Given the description of an element on the screen output the (x, y) to click on. 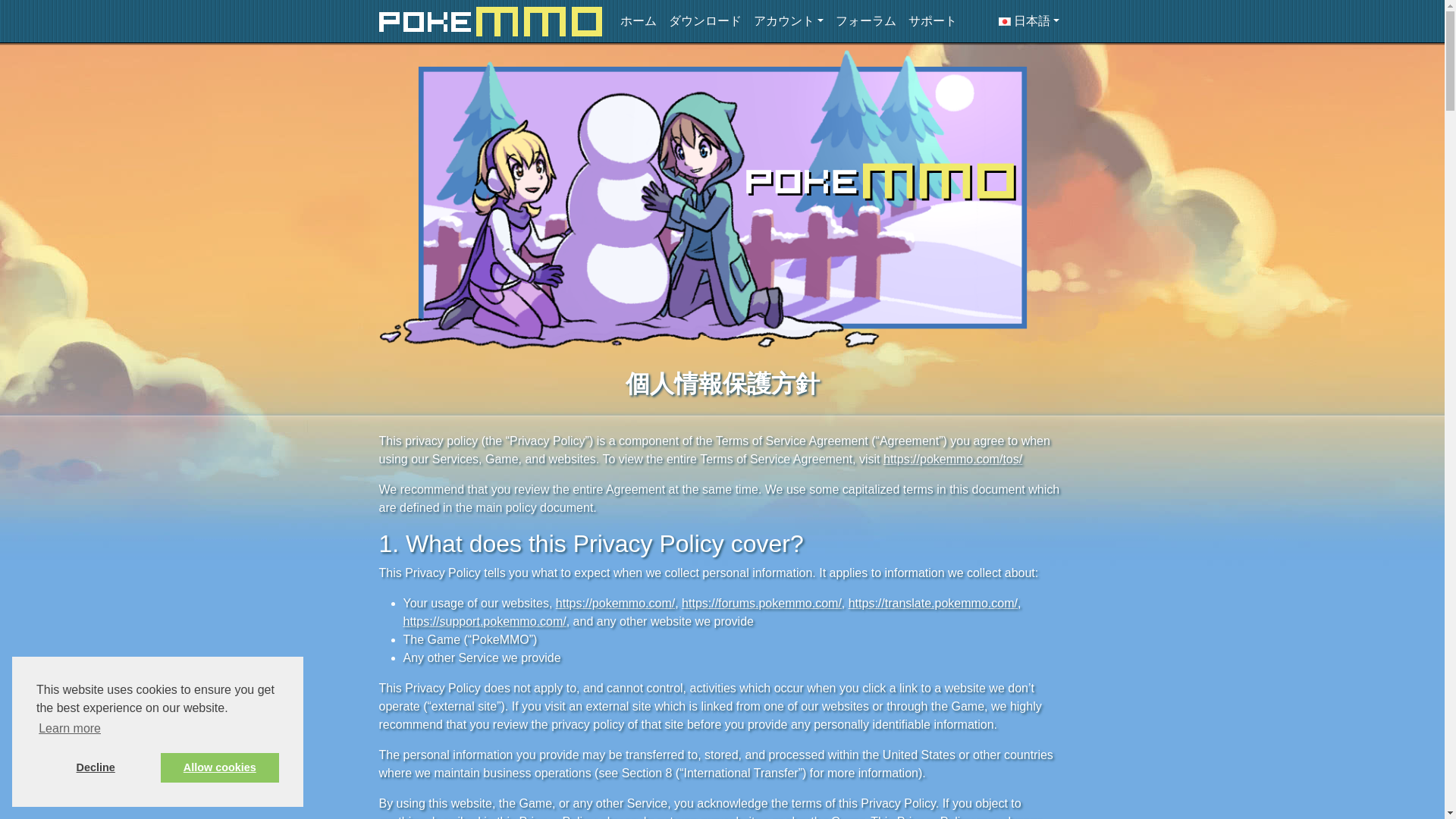
PokeMMO (490, 20)
Decline (95, 767)
Allow cookies (219, 767)
Japanese (1028, 20)
Learn more (69, 728)
